Given the description of an element on the screen output the (x, y) to click on. 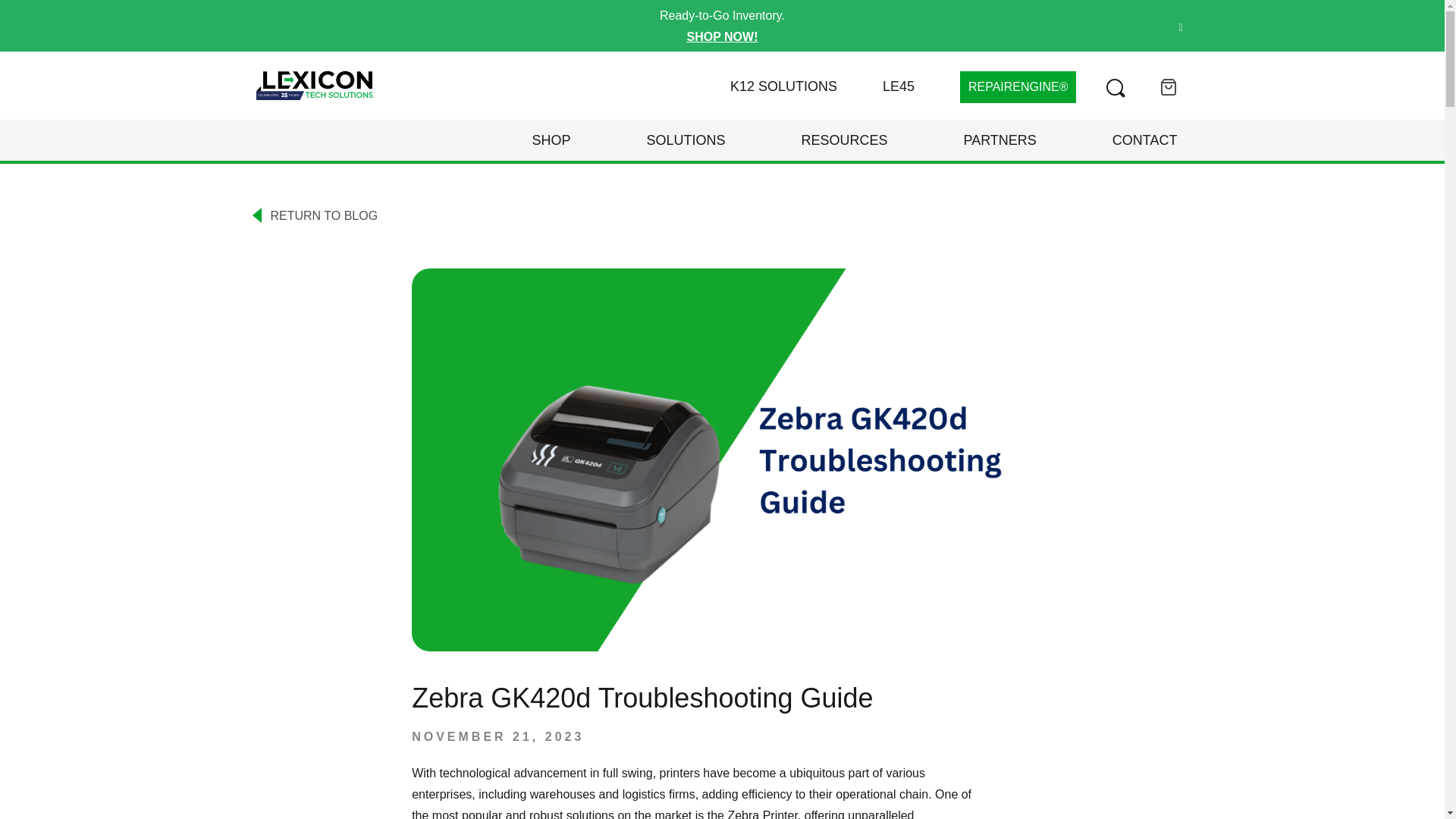
RESOURCES (843, 140)
K12 SOLUTIONS (783, 87)
SOLUTIONS (685, 140)
SHOP NOW! (722, 36)
SHOP (550, 140)
LE45 (898, 87)
